Given the description of an element on the screen output the (x, y) to click on. 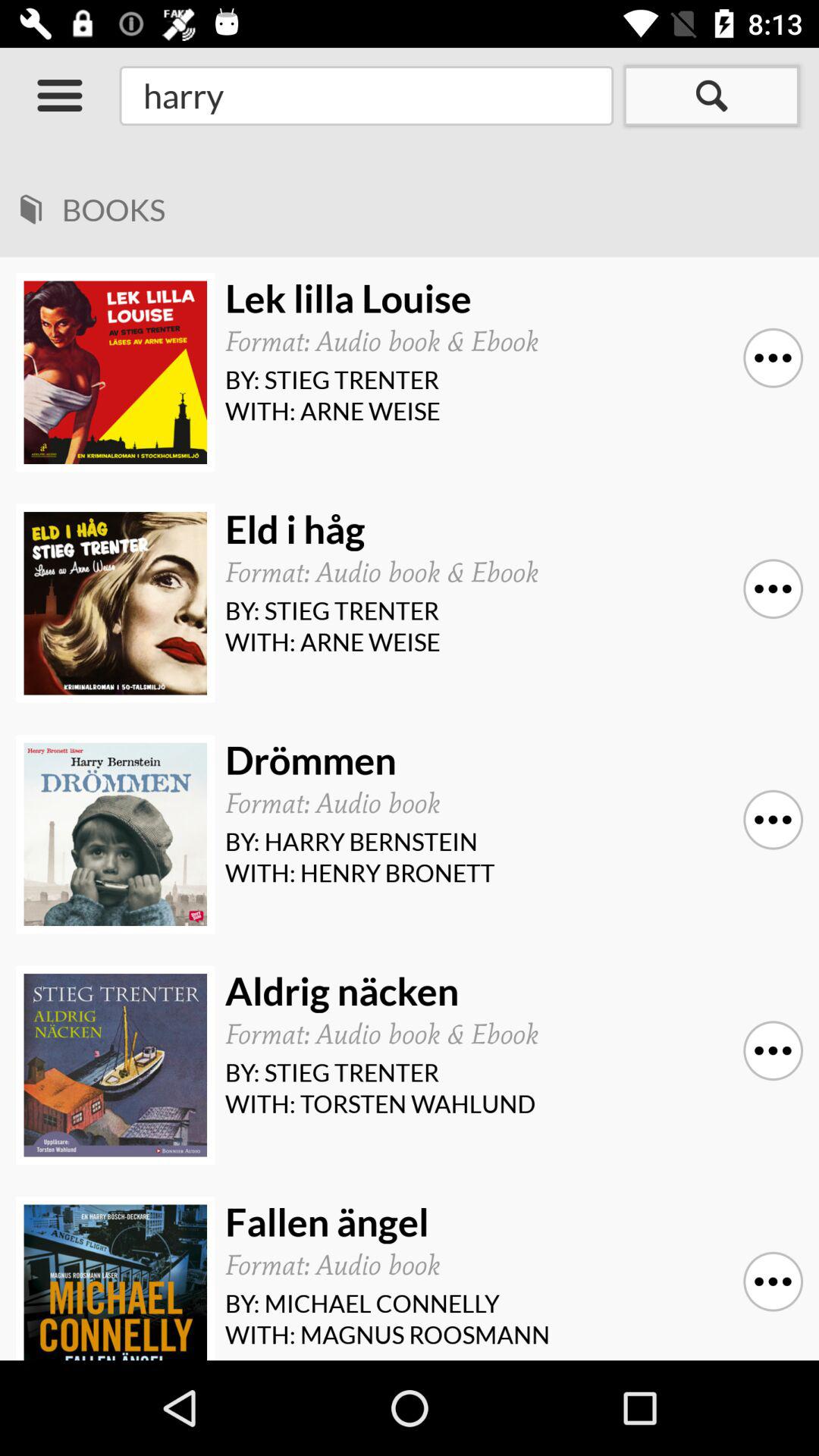
jump until the lek lilla louise item (508, 298)
